Given the description of an element on the screen output the (x, y) to click on. 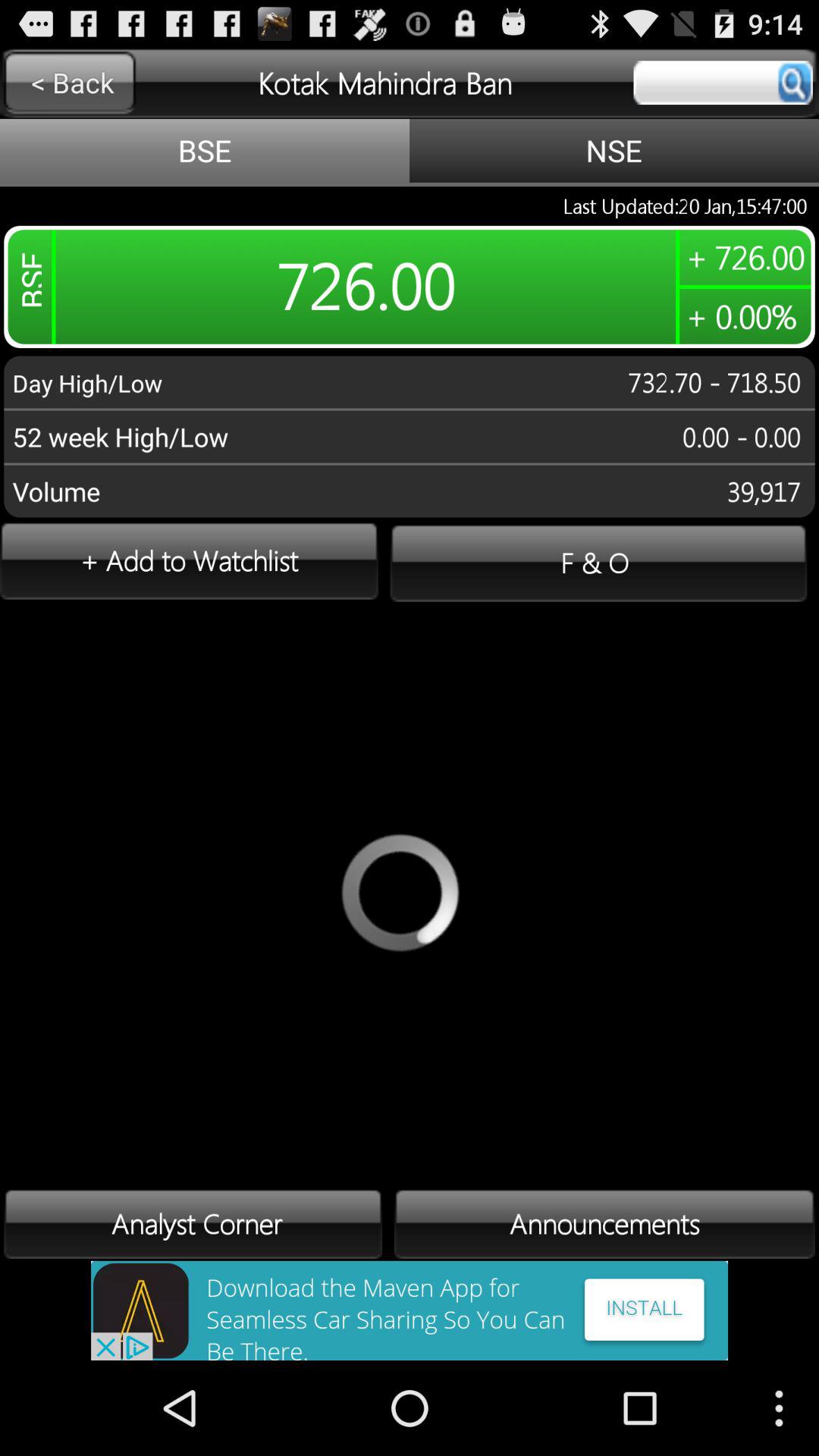
display stock price (722, 82)
